Given the description of an element on the screen output the (x, y) to click on. 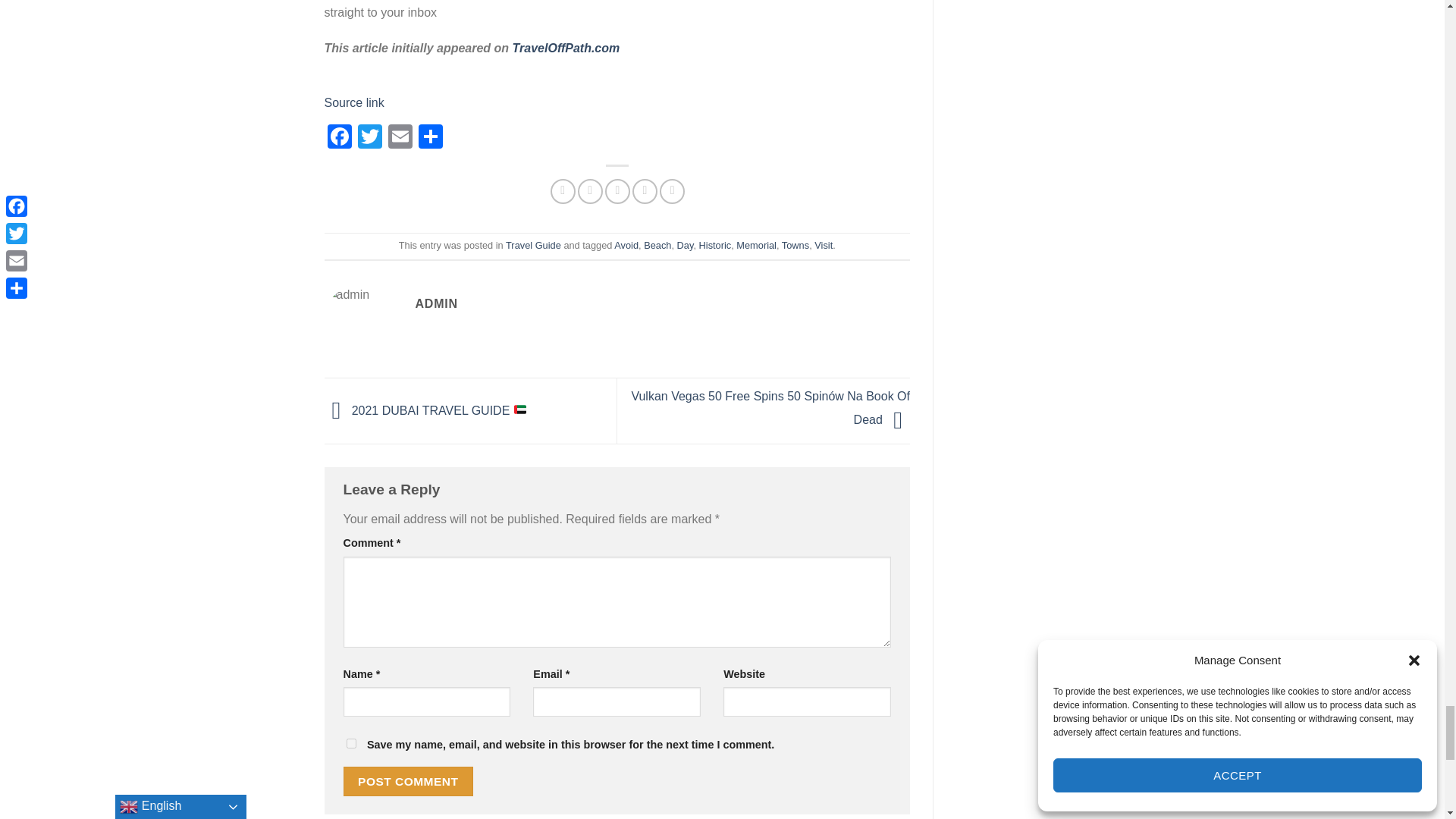
Pin on Pinterest (644, 191)
Email to a Friend (617, 191)
Email (399, 138)
Share on LinkedIn (671, 191)
Facebook (339, 138)
yes (350, 743)
Share on Twitter (590, 191)
Post Comment (407, 781)
Share on Facebook (562, 191)
Twitter (370, 138)
